Given the description of an element on the screen output the (x, y) to click on. 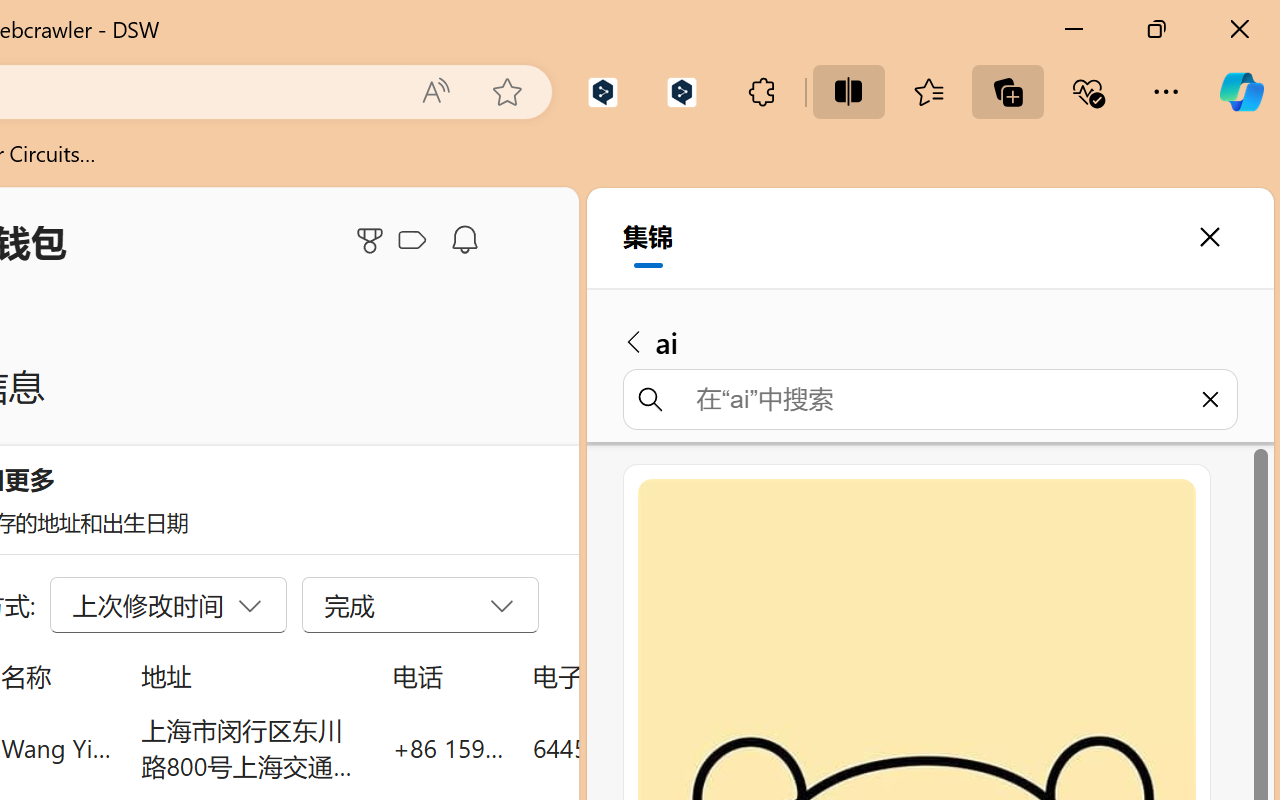
Class: ___1lmltc5 f1agt3bx f12qytpq (411, 241)
+86 159 0032 4640 (447, 747)
Microsoft Cashback (415, 241)
